Given the description of an element on the screen output the (x, y) to click on. 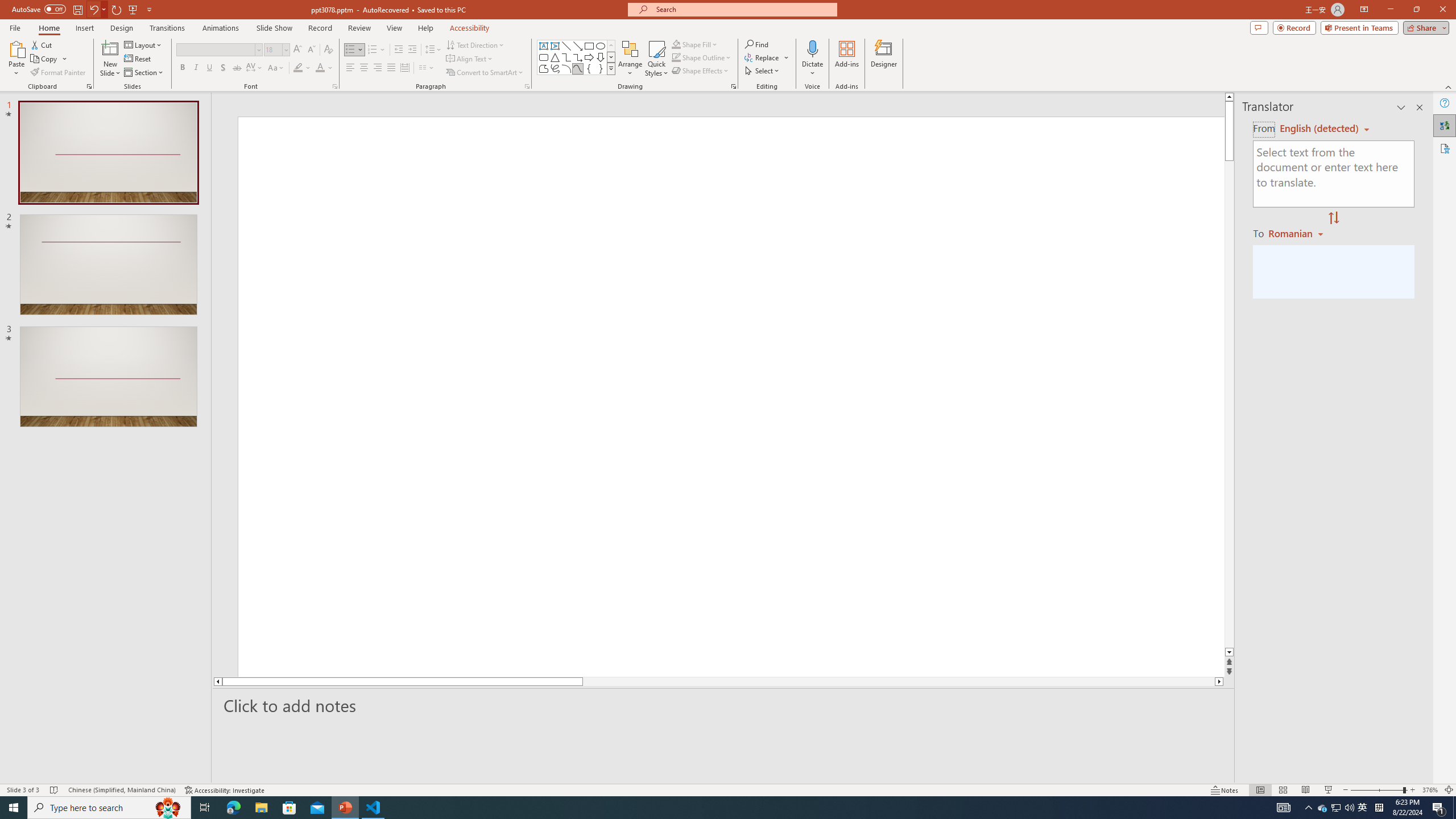
Romanian (1296, 232)
